Given the description of an element on the screen output the (x, y) to click on. 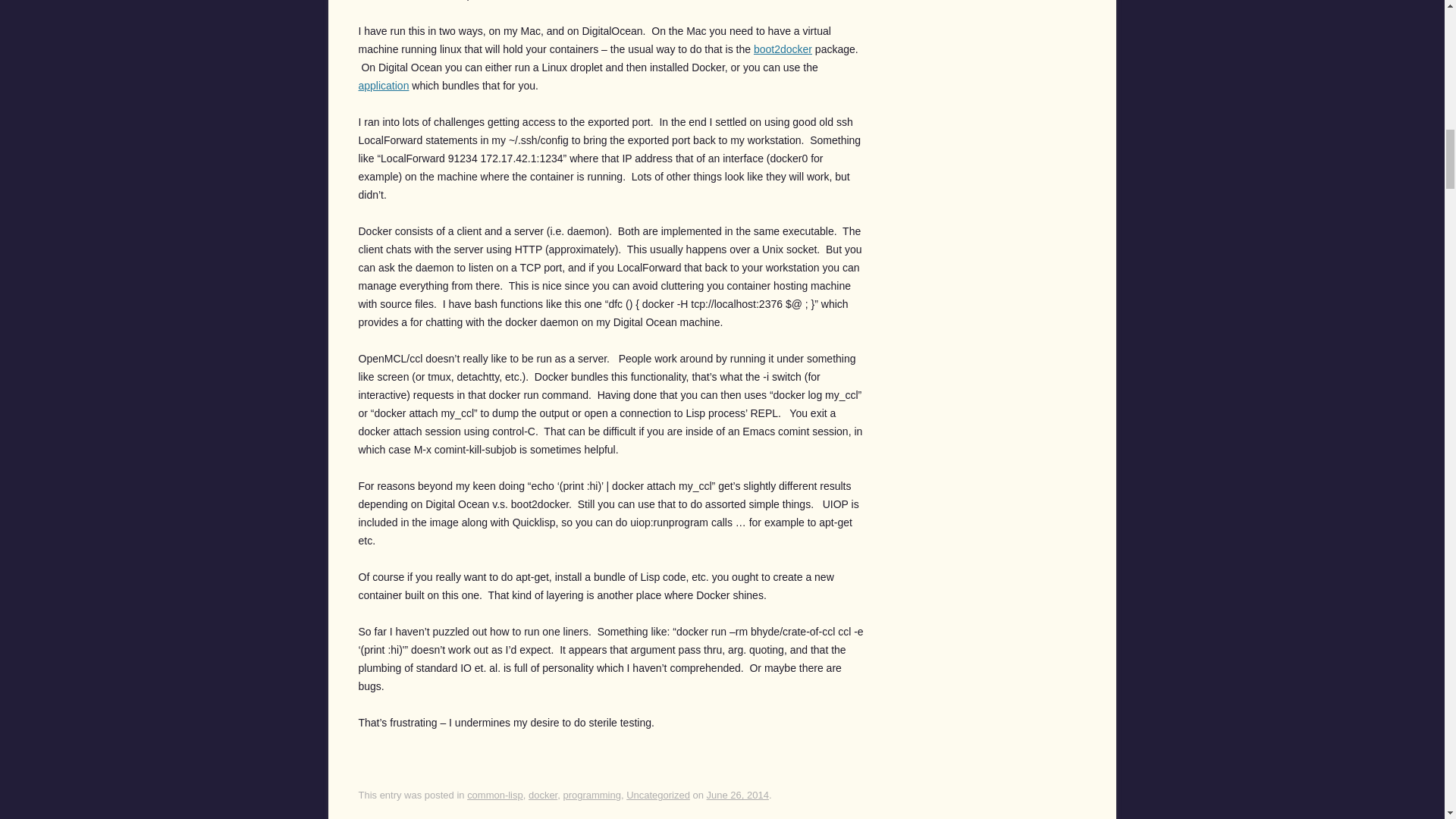
boot2docker (783, 49)
docker (542, 794)
application (383, 85)
programming (591, 794)
common-lisp (494, 794)
June 26, 2014 (737, 794)
11:17 am (737, 794)
Uncategorized (658, 794)
